Given the description of an element on the screen output the (x, y) to click on. 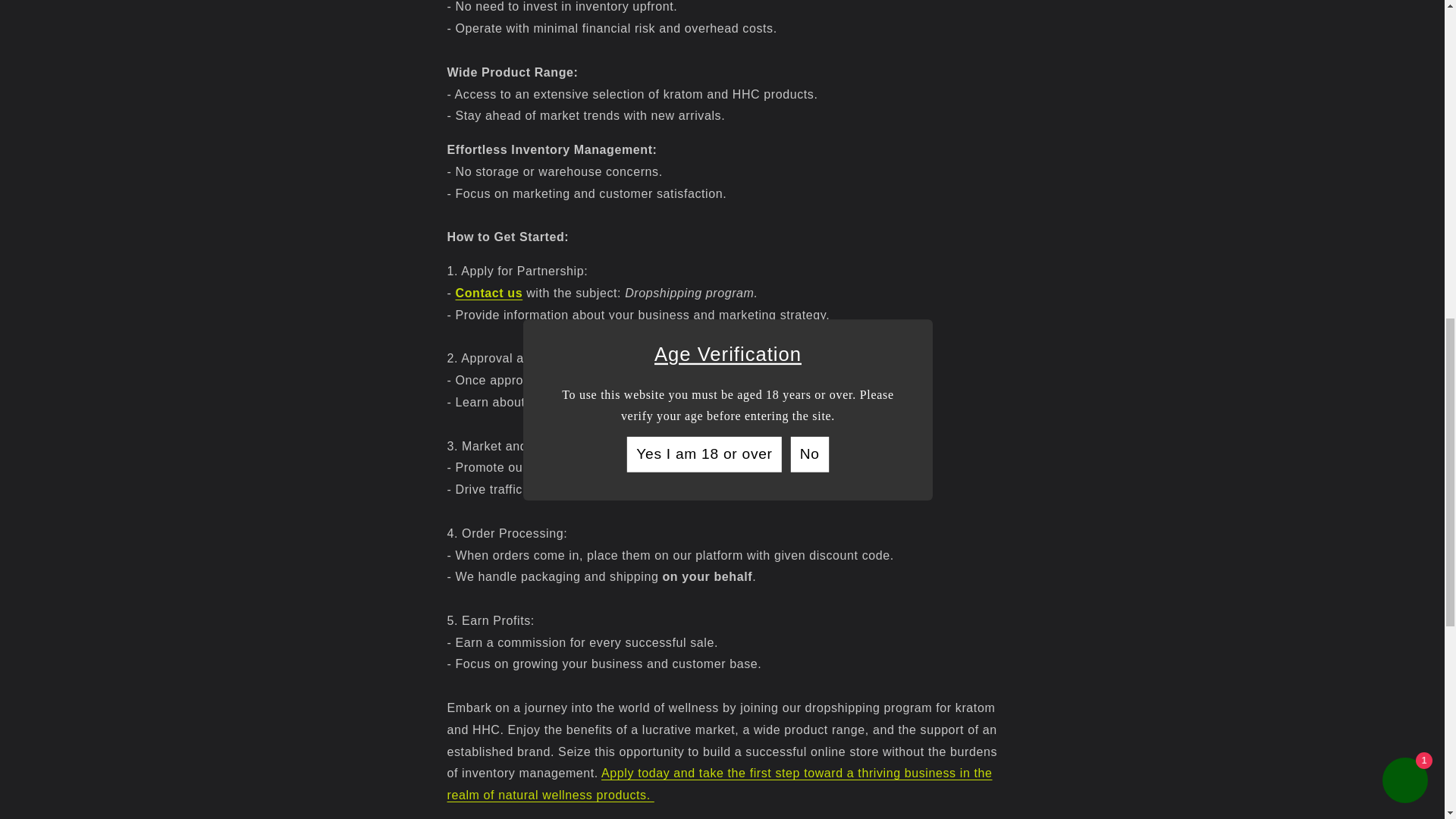
Contact us (488, 292)
